Given the description of an element on the screen output the (x, y) to click on. 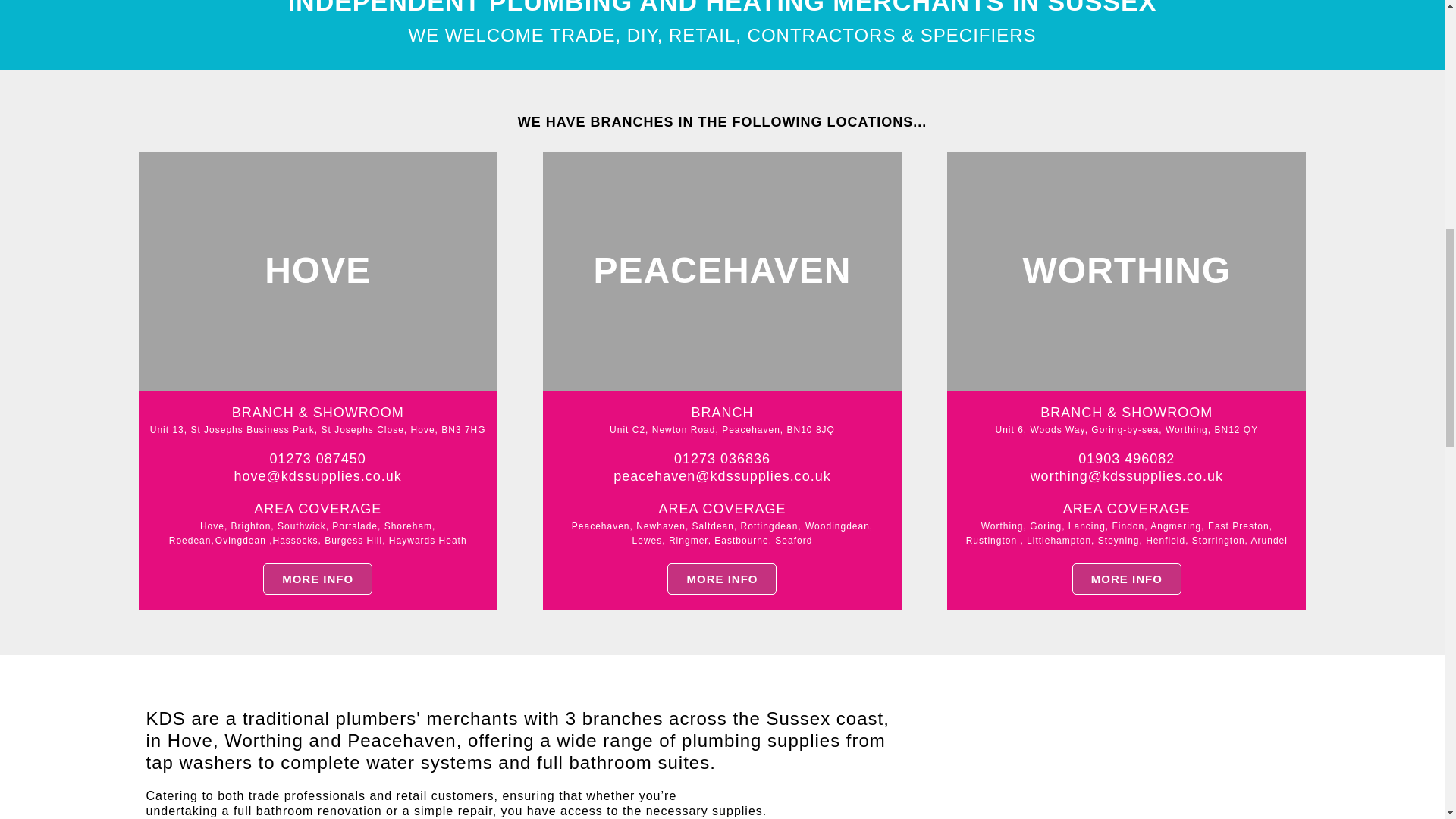
PEACEHAVEN (722, 270)
MORE INFO (317, 578)
01903 496082 (1126, 458)
01273 036836 (722, 458)
MORE INFO (721, 578)
WORTHING (1126, 270)
MORE INFO (1125, 578)
01273 087450 (317, 458)
HOVE (317, 270)
